Given the description of an element on the screen output the (x, y) to click on. 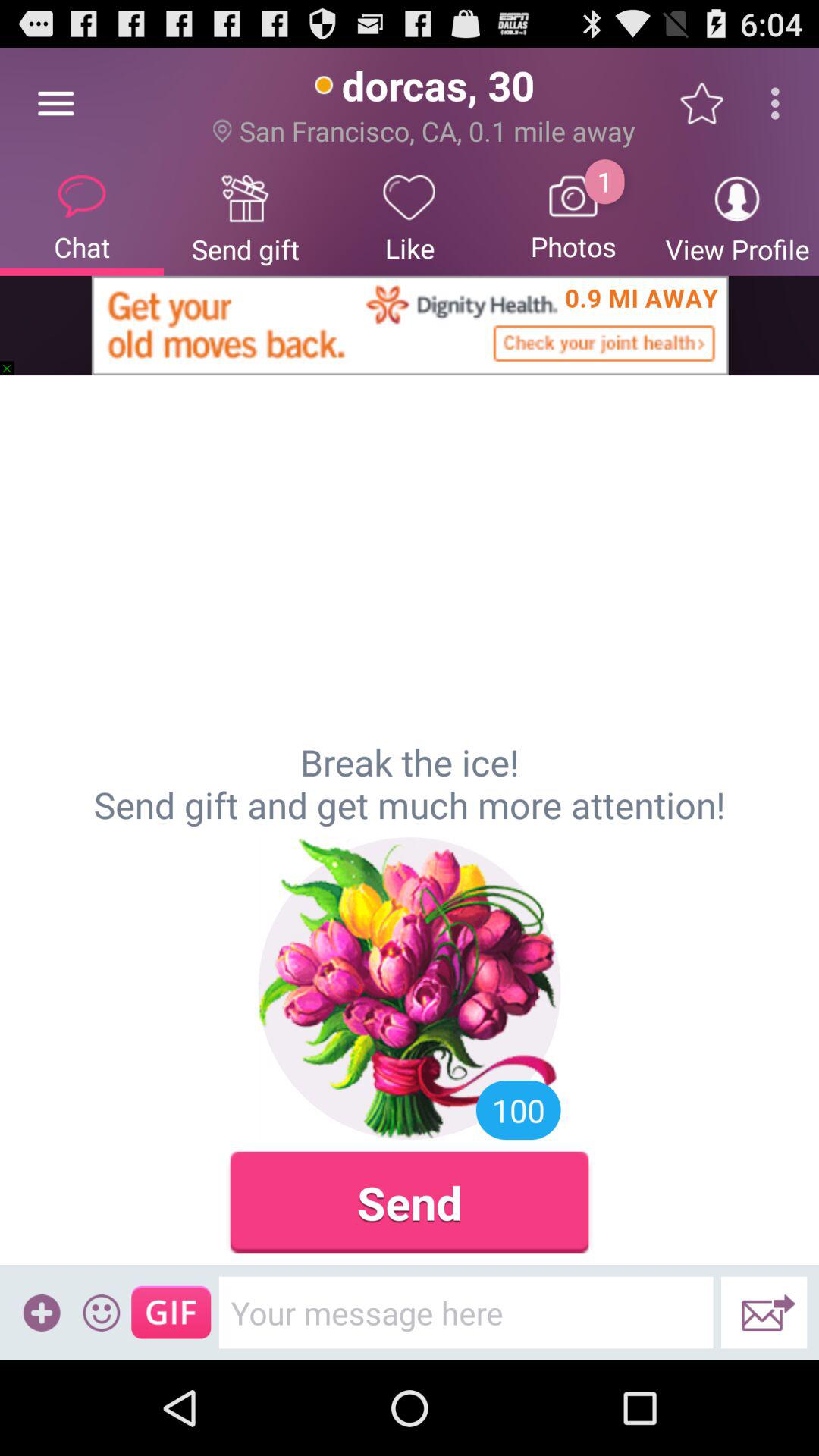
open the item to the left of the send gift (55, 103)
